Given the description of an element on the screen output the (x, y) to click on. 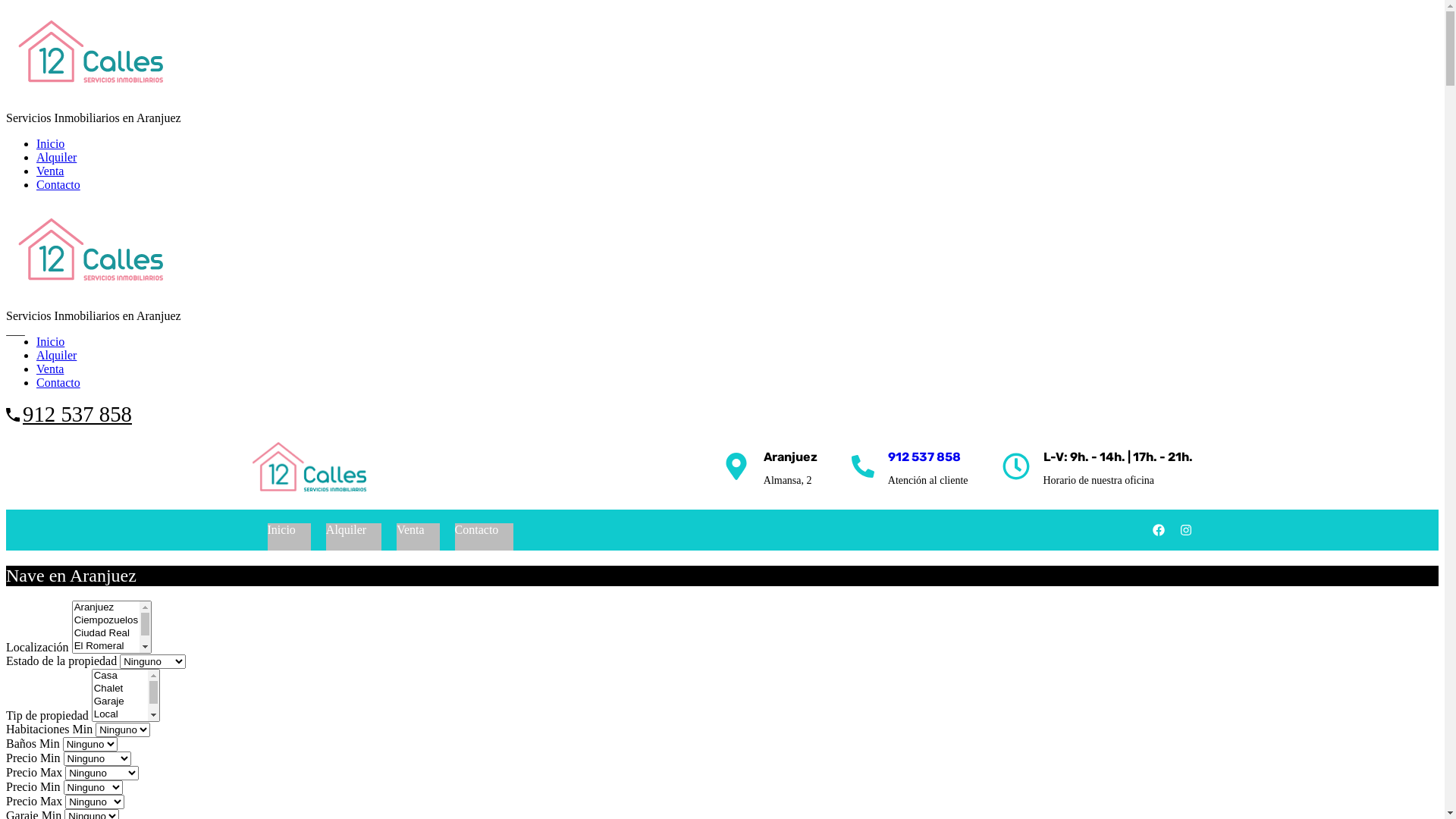
Inicio Element type: text (50, 341)
12 Calles Inmobiliaria Element type: hover (308, 468)
Venta Element type: text (410, 529)
Alquiler Element type: text (56, 156)
Alquiler Element type: text (345, 529)
Contacto Element type: text (58, 382)
Venta Element type: text (49, 368)
912 537 858 Element type: text (924, 456)
Venta Element type: text (49, 170)
Alquiler Element type: text (56, 354)
Inicio Element type: text (280, 529)
12 Calles Inmobiliaria Element type: hover (90, 91)
Contacto Element type: text (476, 529)
Contacto Element type: text (58, 184)
912 537 858 Element type: text (76, 413)
12 Calles Inmobiliaria Element type: hover (90, 289)
Inicio Element type: text (50, 143)
